Given the description of an element on the screen output the (x, y) to click on. 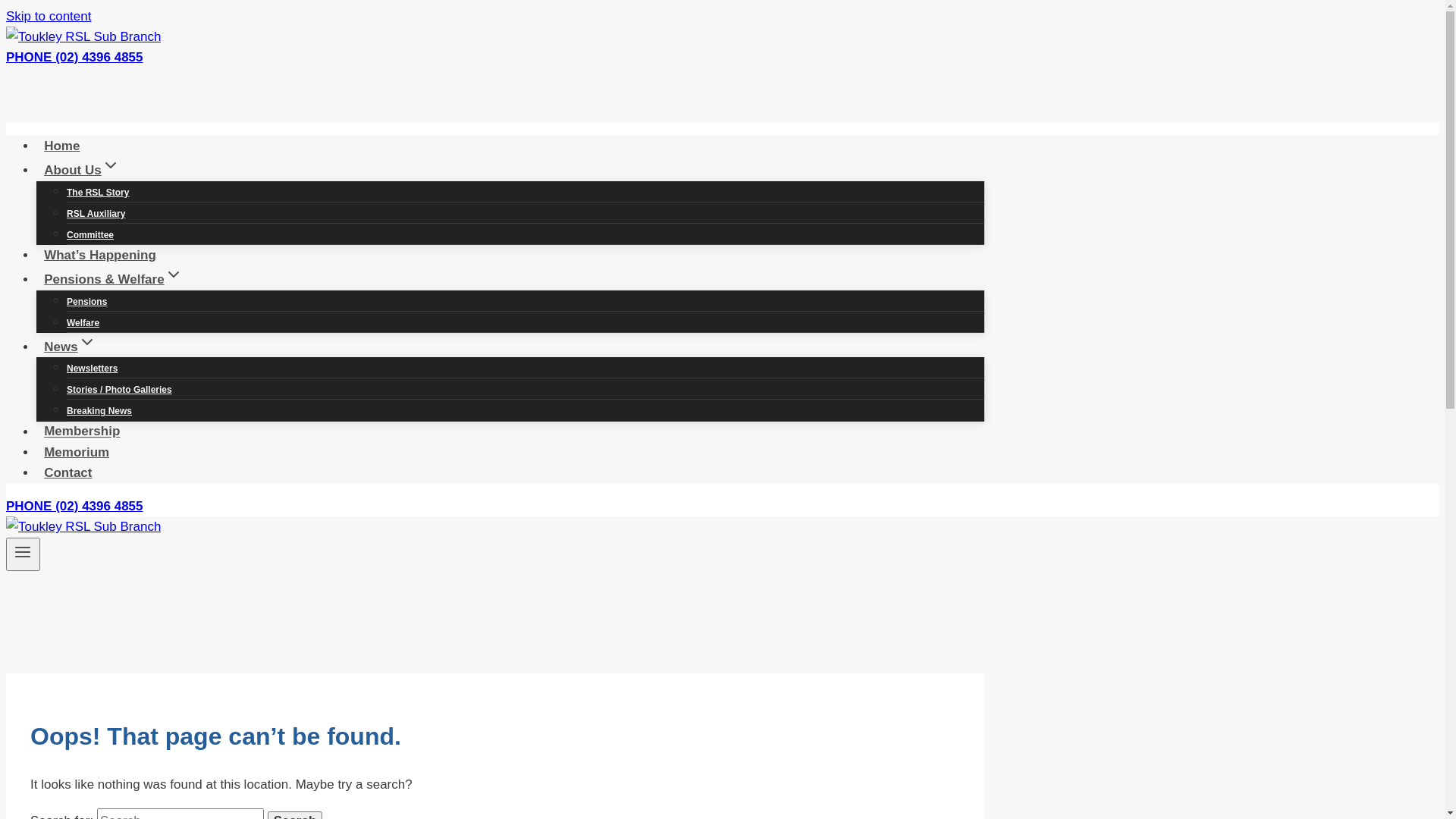
PHONE (02) 4396 4855 Element type: text (74, 57)
Pensions & WelfareExpand Element type: text (113, 279)
Committee Element type: text (89, 234)
Toggle Menu Element type: text (23, 554)
PHONE (02) 4396 4855 Element type: text (74, 505)
Pensions Element type: text (86, 300)
Stories / Photo Galleries Element type: text (119, 389)
RSL Auxiliary Element type: text (95, 213)
NewsExpand Element type: text (69, 346)
Breaking News Element type: text (98, 410)
Contact Element type: text (68, 472)
The RSL Story Element type: text (97, 192)
Newsletters Element type: text (91, 368)
Home Element type: text (61, 145)
Skip to content Element type: text (48, 16)
Membership Element type: text (82, 430)
About UsExpand Element type: text (81, 170)
Welfare Element type: text (82, 322)
Memorium Element type: text (76, 452)
